Given the description of an element on the screen output the (x, y) to click on. 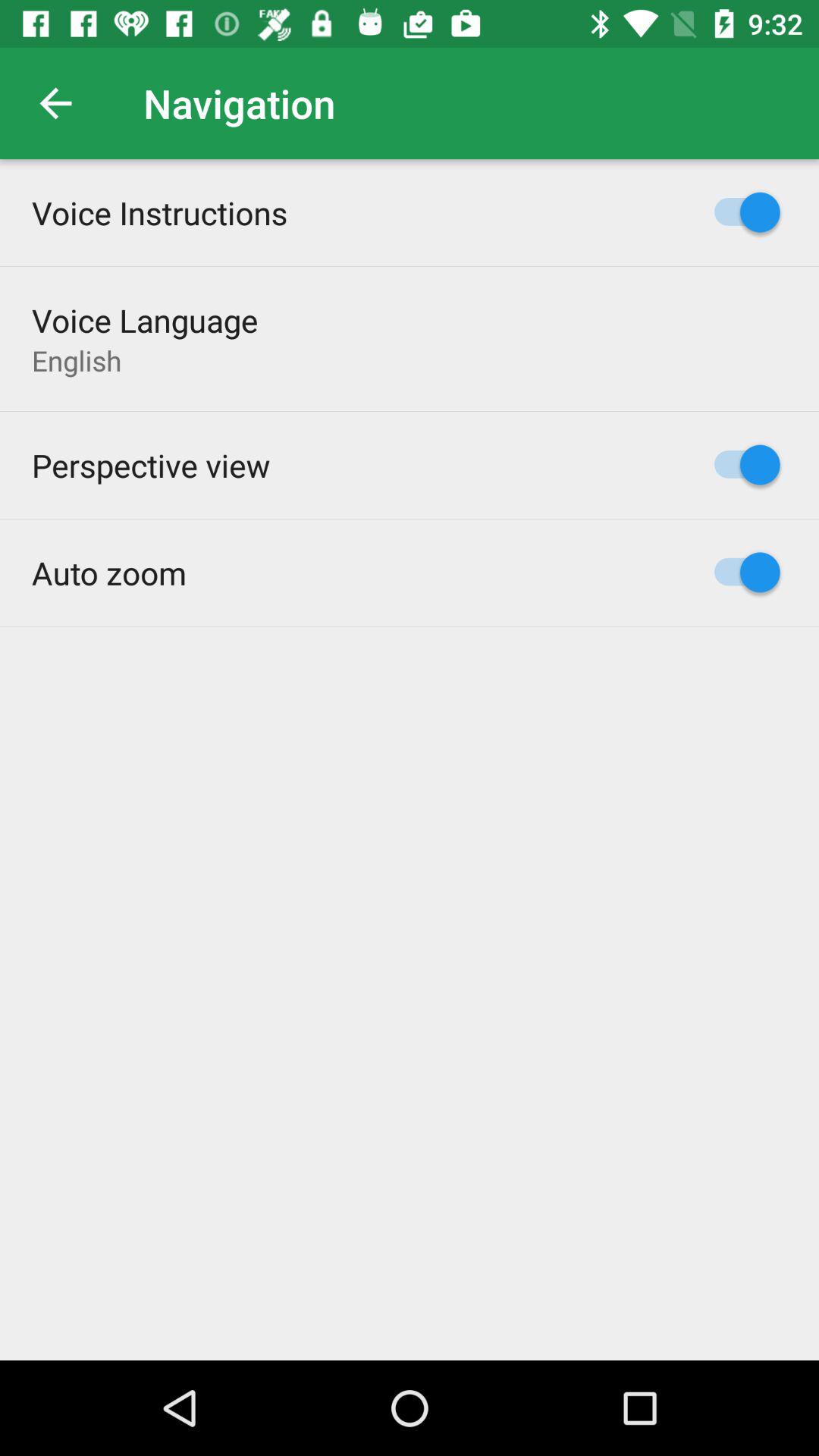
tap item below the voice language item (76, 360)
